Given the description of an element on the screen output the (x, y) to click on. 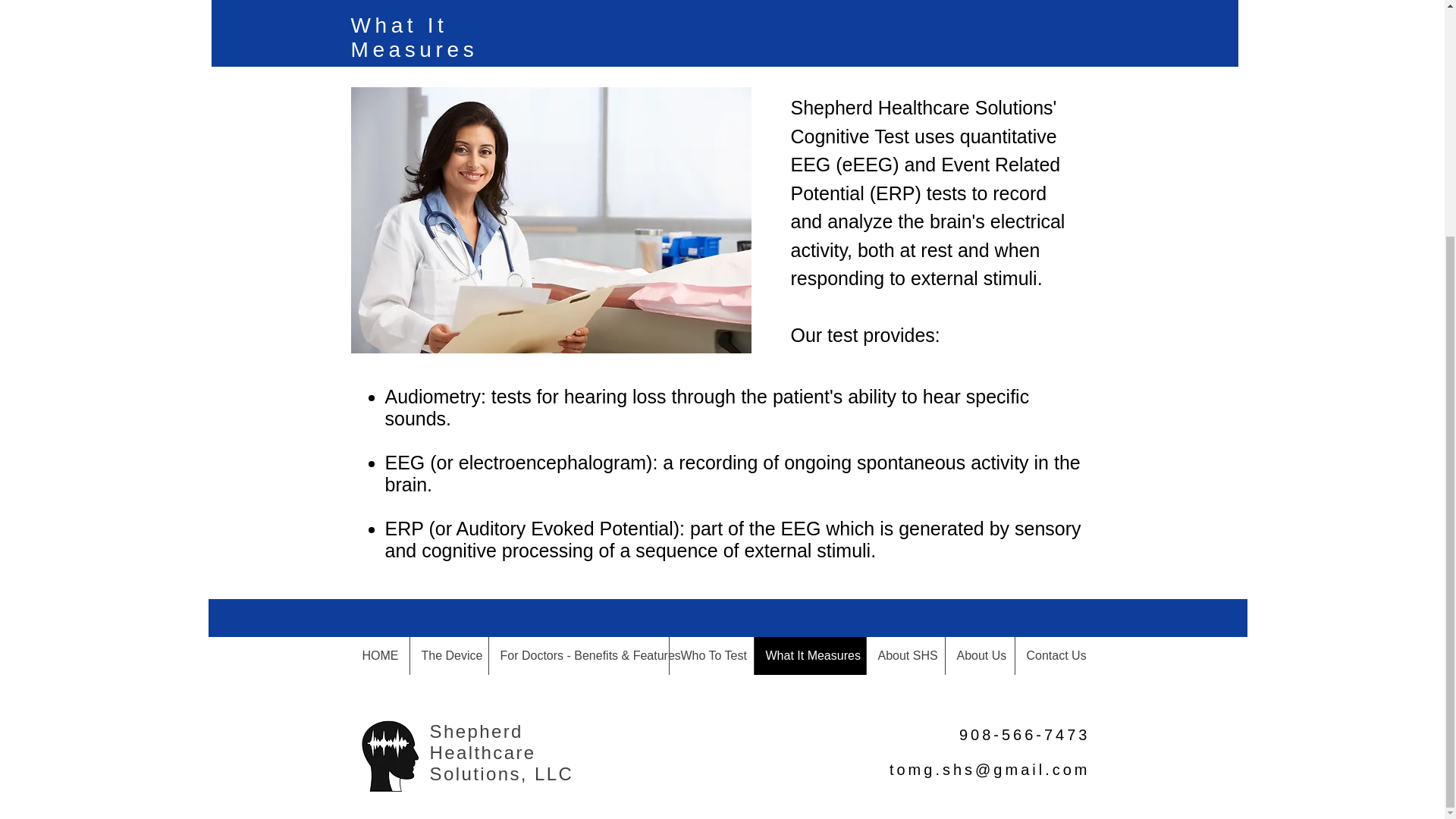
Shepherd (475, 731)
908-566-7473 (1024, 733)
HOME (379, 655)
Contact Us (1054, 655)
Who To Test (711, 655)
What It Measures (810, 655)
Solutions, LLC (501, 773)
About SHS (905, 655)
About Us (979, 655)
Healthcare (482, 752)
